Given the description of an element on the screen output the (x, y) to click on. 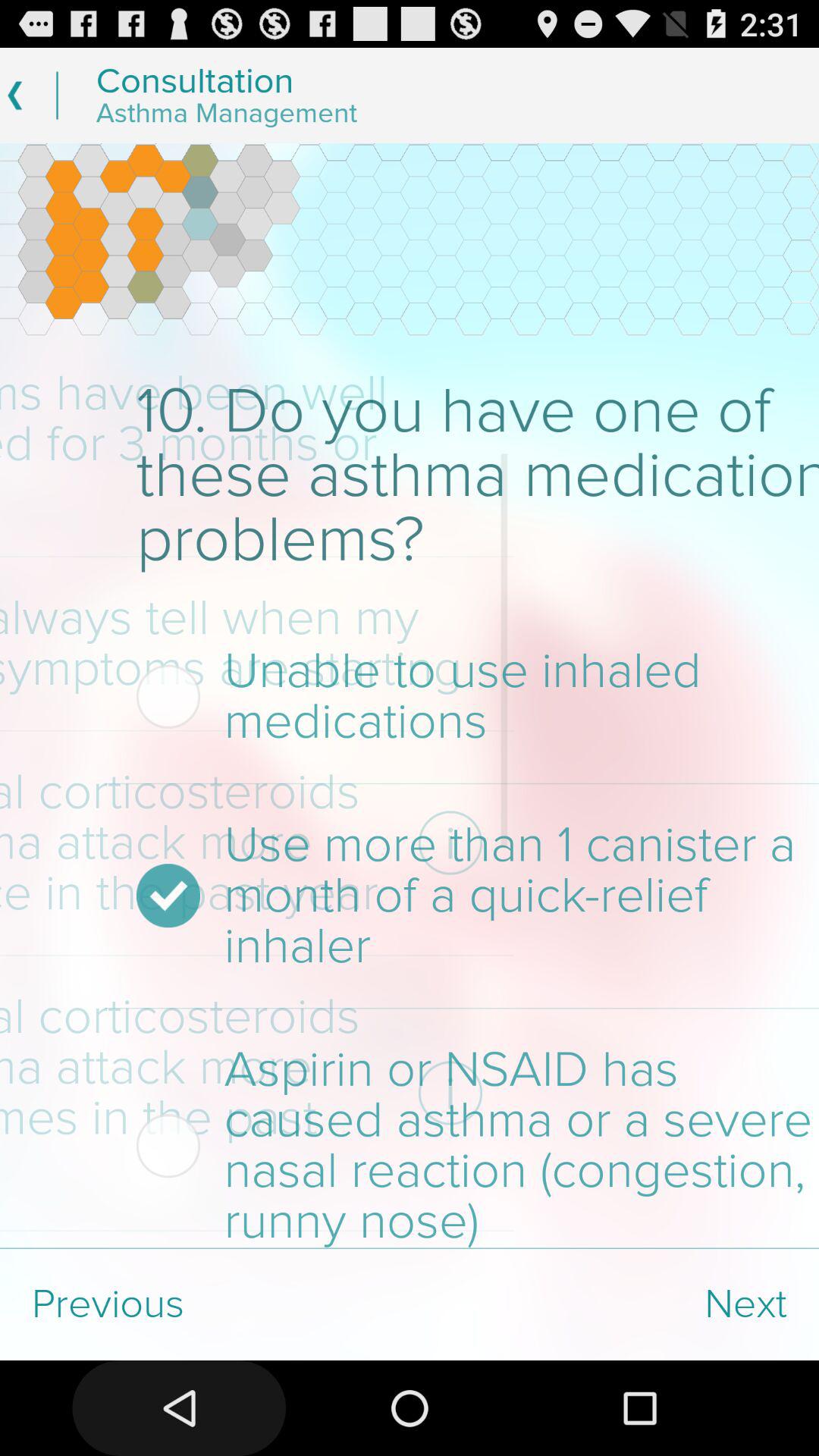
open app next to the previous item (614, 1304)
